Given the description of an element on the screen output the (x, y) to click on. 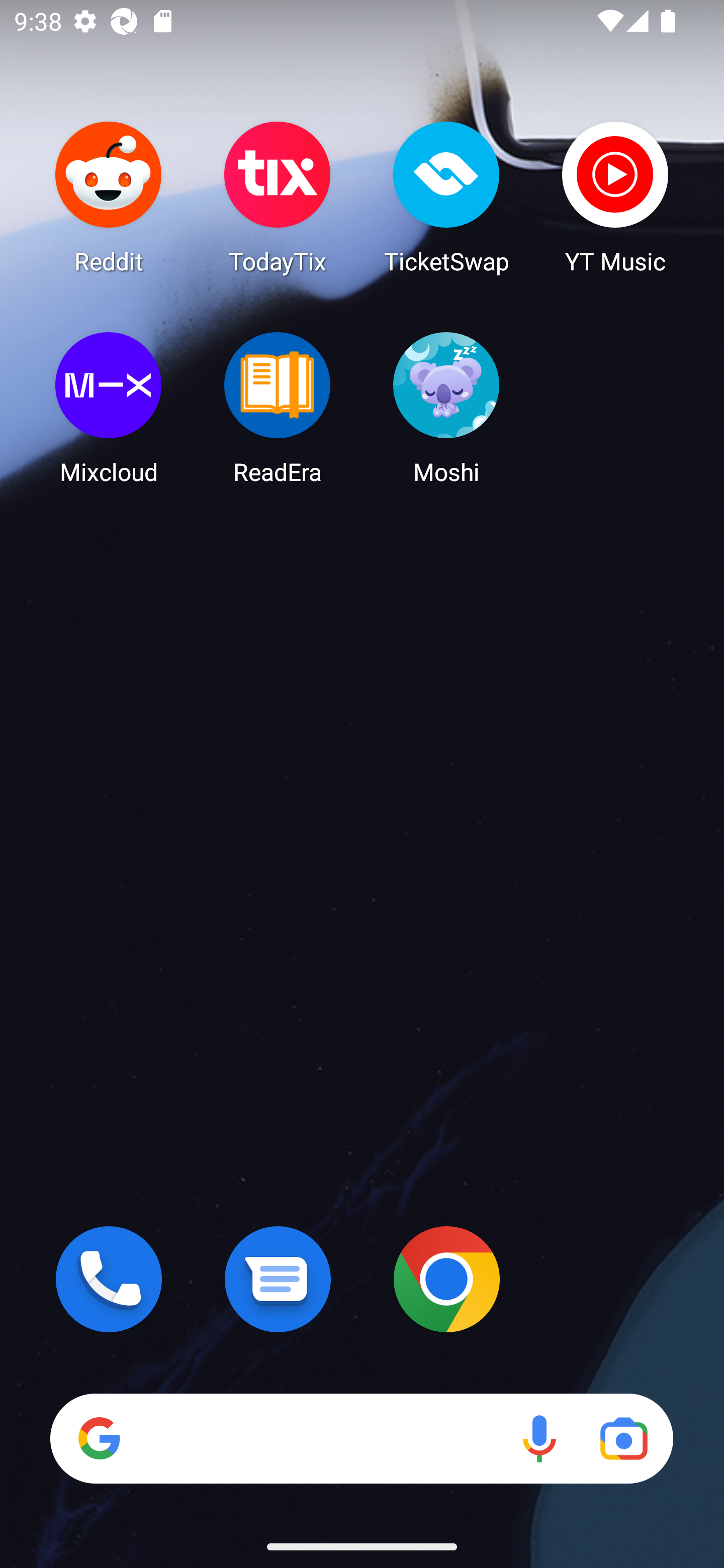
Reddit (108, 196)
TodayTix (277, 196)
TicketSwap (445, 196)
YT Music (615, 196)
Mixcloud (108, 407)
ReadEra (277, 407)
Moshi (445, 407)
Phone (108, 1279)
Messages (277, 1279)
Chrome (446, 1279)
Voice search (539, 1438)
Google Lens (623, 1438)
